Given the description of an element on the screen output the (x, y) to click on. 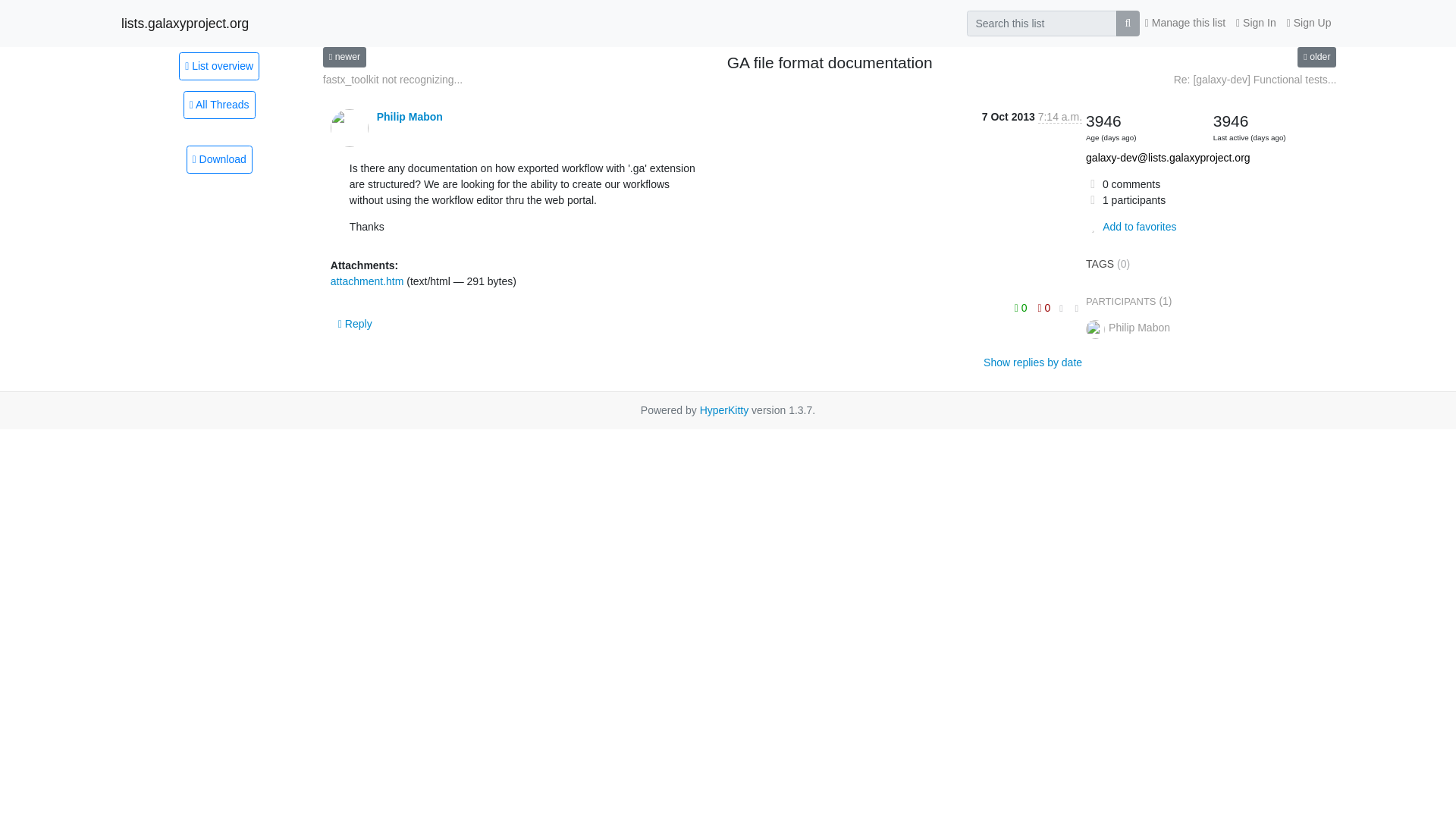
Sender's time: Oct. 7, 2013, 9:14 a.m. (1059, 116)
newer (344, 56)
All Threads (219, 104)
Permalink for this message (1075, 308)
You must be logged-in to vote. (1043, 307)
See the profile for Philip Mabon (409, 116)
Sign Up (1308, 22)
Manage this list (1185, 22)
Sign in to reply online (355, 323)
Display in fixed font (1061, 308)
List overview (219, 65)
Sign In (1255, 22)
This thread in gzipped mbox format (218, 159)
lists.galaxyproject.org (184, 22)
You must be logged-in to vote. (1021, 307)
